Given the description of an element on the screen output the (x, y) to click on. 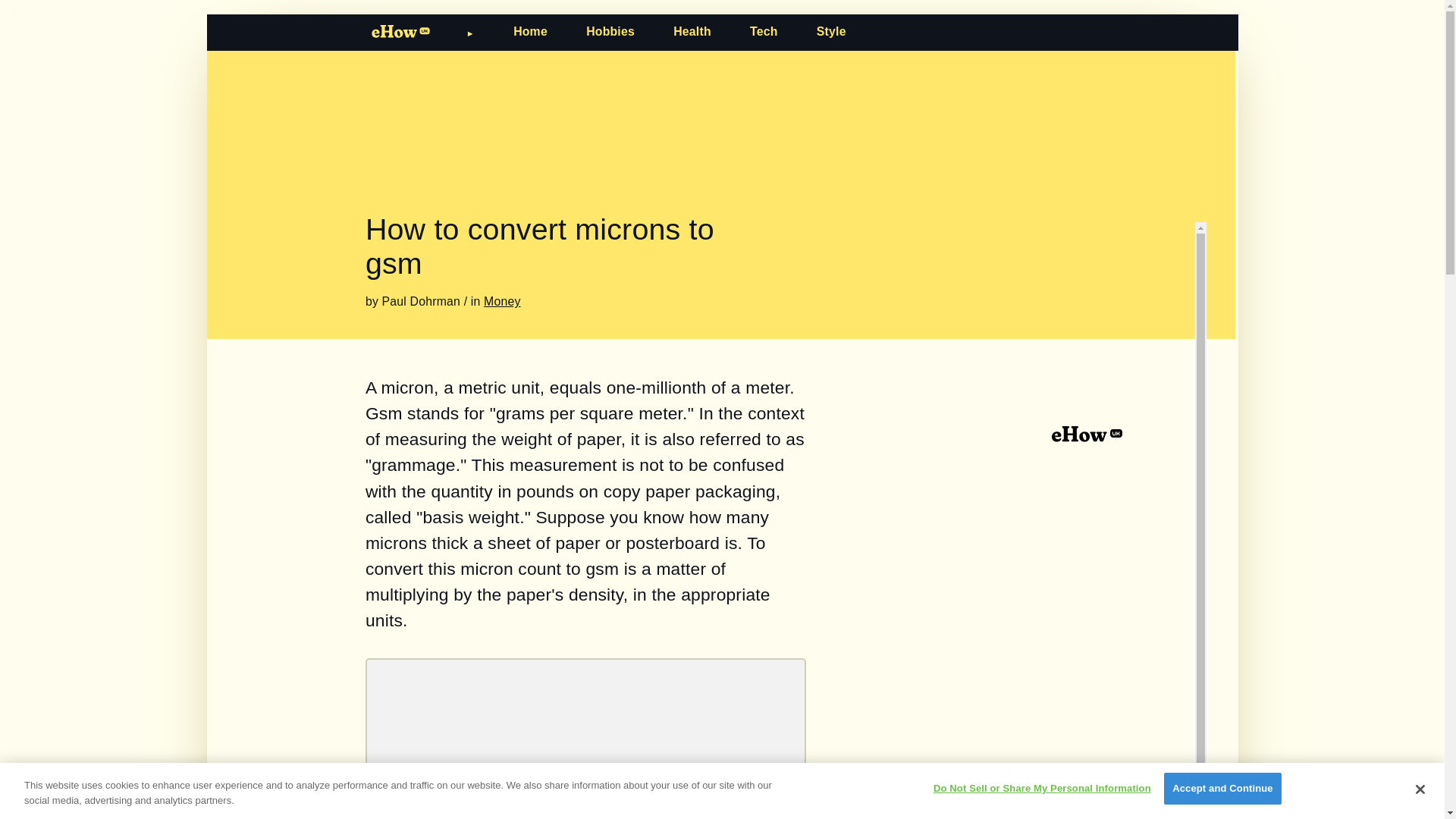
Style (830, 31)
Health (691, 31)
Tech (763, 31)
Advertisement (585, 746)
Hobbies (610, 31)
Home (530, 31)
Money (501, 300)
